Given the description of an element on the screen output the (x, y) to click on. 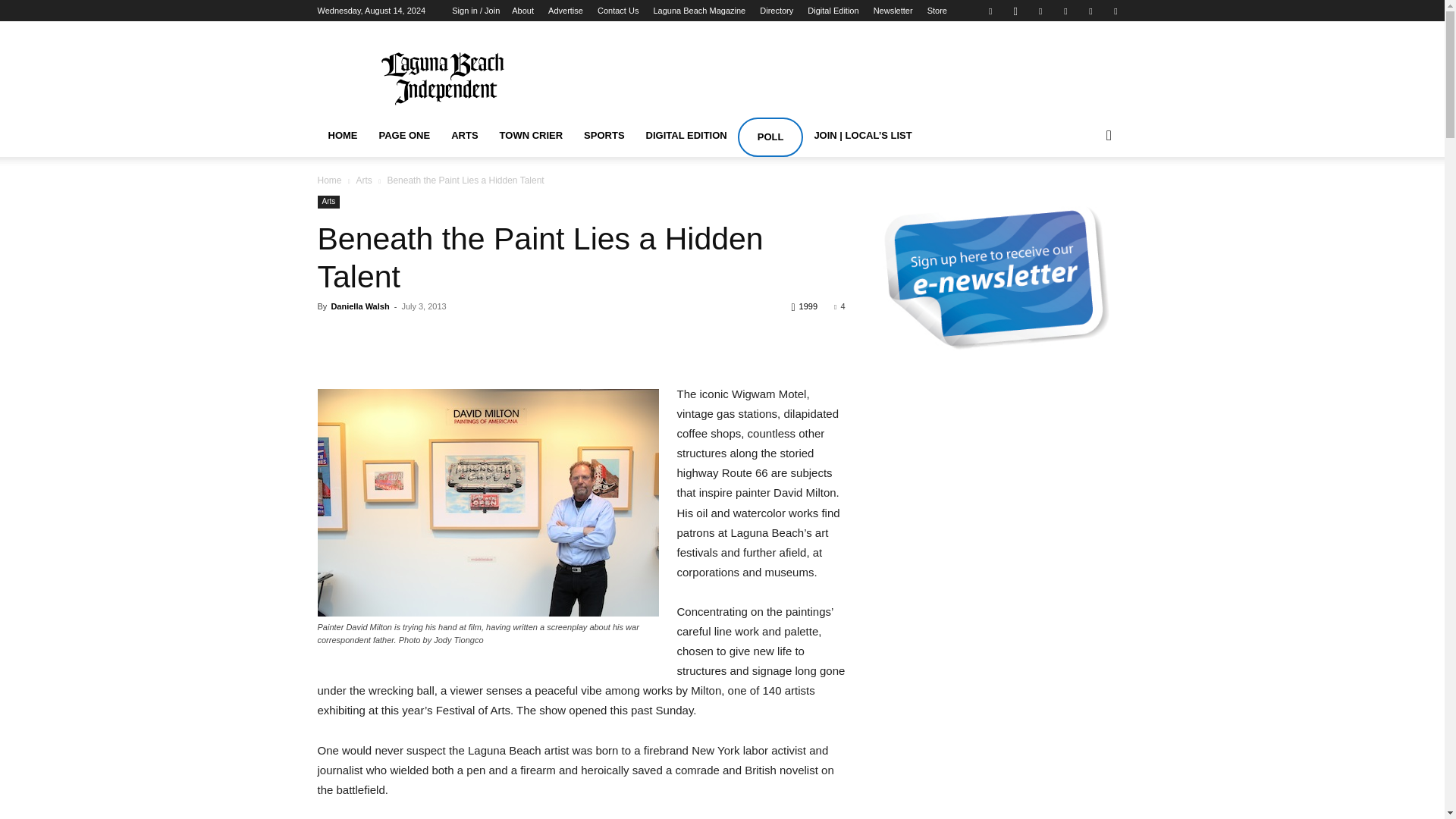
Youtube (1114, 10)
Instagram (1015, 10)
RSS (1065, 10)
Facebook (989, 10)
View all posts in Arts (363, 180)
Twitter (1090, 10)
Linkedin (1040, 10)
